Given the description of an element on the screen output the (x, y) to click on. 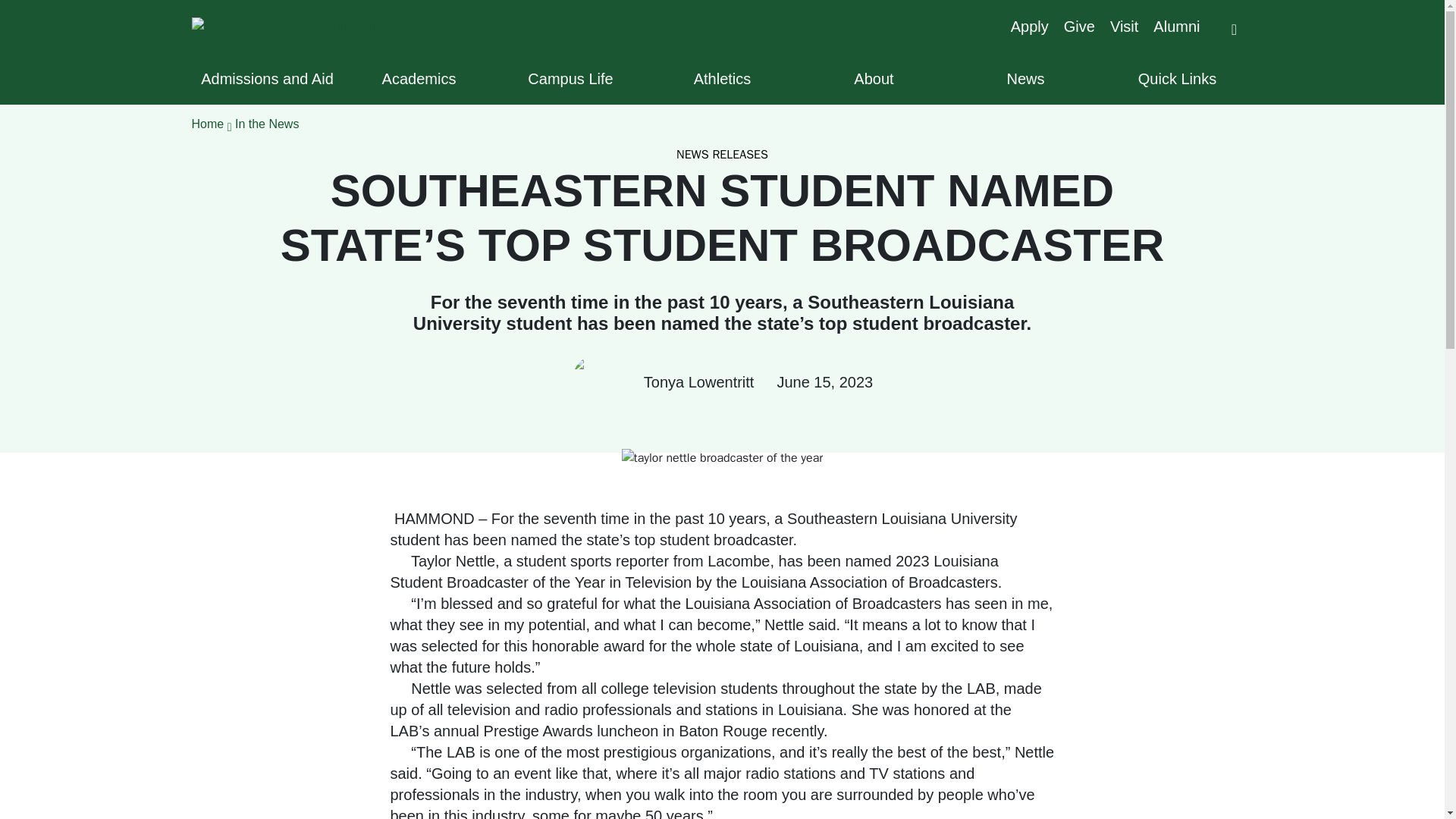
Visit (1123, 26)
Give (1079, 26)
Campus Life (570, 78)
Admissions and Aid (266, 78)
Alumni (1176, 26)
Apply (1029, 26)
Academics (418, 78)
